Given the description of an element on the screen output the (x, y) to click on. 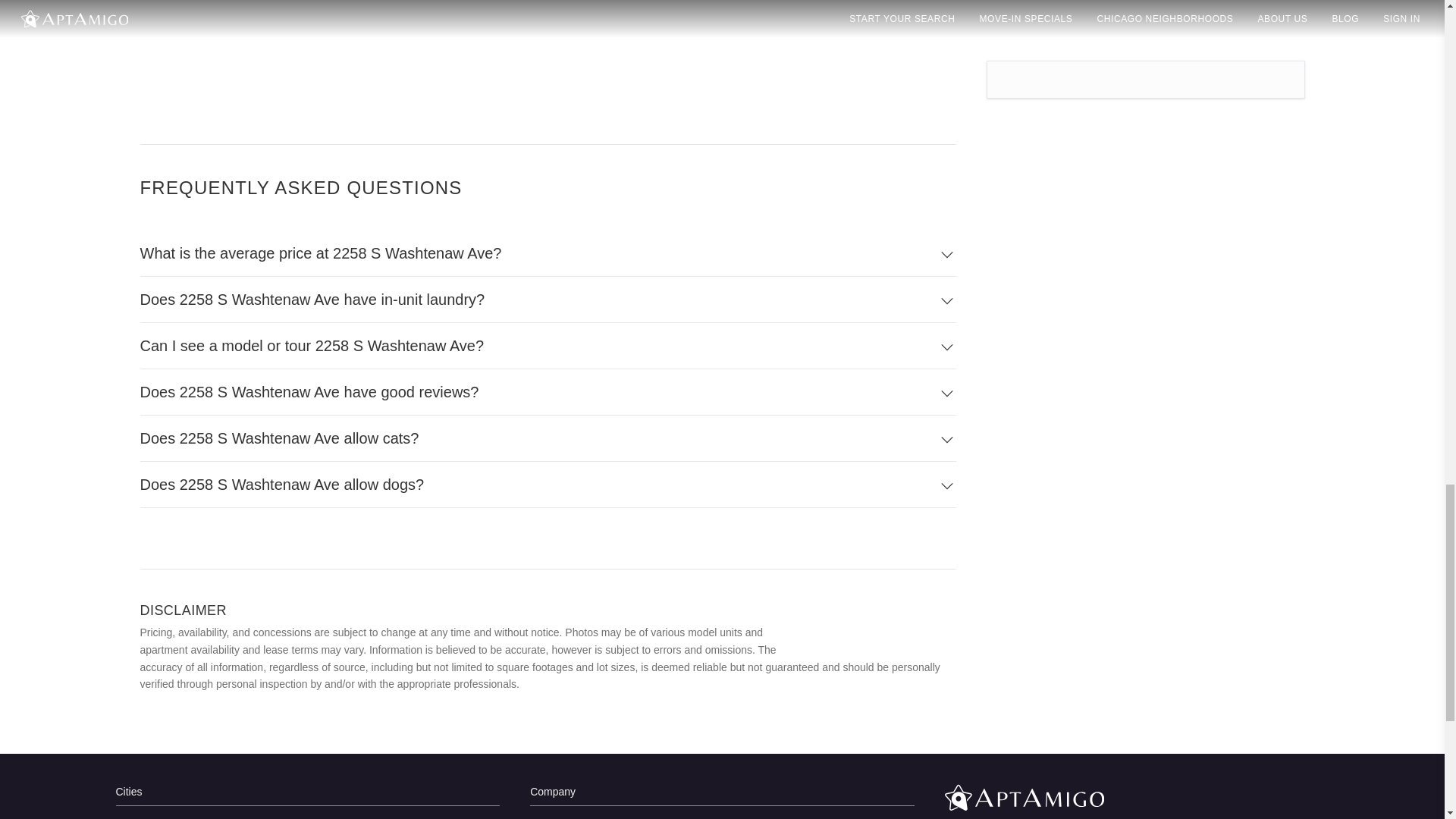
Does 2258 S Washtenaw Ave have in-unit laundry? (547, 299)
Does 2258 S Washtenaw Ave allow dogs? (547, 484)
Can I see a model or tour 2258 S Washtenaw Ave? (547, 345)
What is the average price at 2258 S Washtenaw Ave? (547, 253)
Atlanta (307, 815)
Does 2258 S Washtenaw Ave allow cats? (547, 438)
Does 2258 S Washtenaw Ave have good reviews? (547, 392)
